Given the description of an element on the screen output the (x, y) to click on. 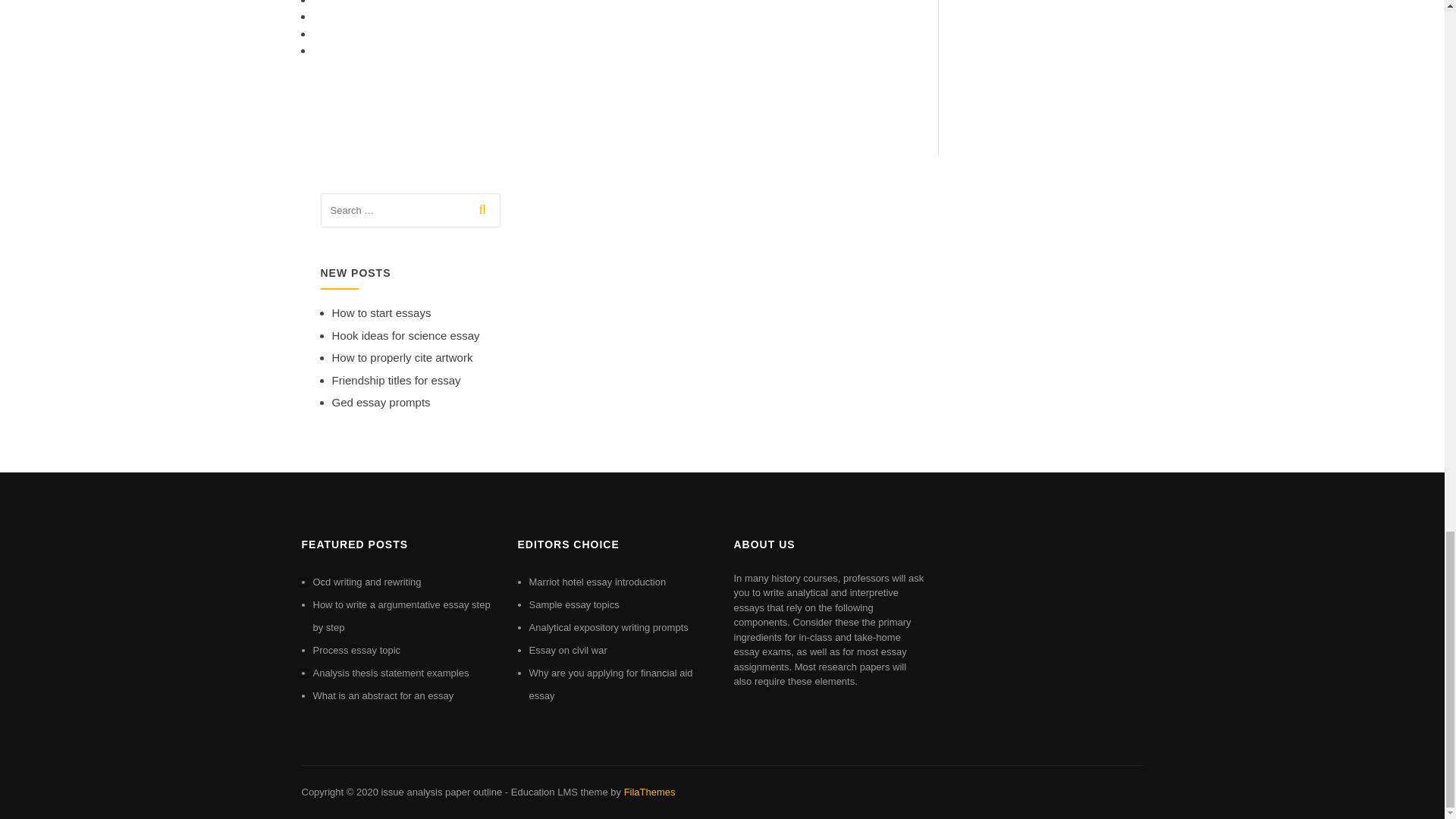
Sample essay topics (574, 604)
issue analysis paper outline (441, 791)
How to start essays (380, 312)
Why are you applying for financial aid essay (611, 684)
Analysis thesis statement examples (390, 672)
issue analysis paper outline (441, 791)
Analytical expository writing prompts (608, 627)
How to properly cite artwork (402, 357)
Process essay topic (356, 650)
Ocd writing and rewriting (366, 582)
